Given the description of an element on the screen output the (x, y) to click on. 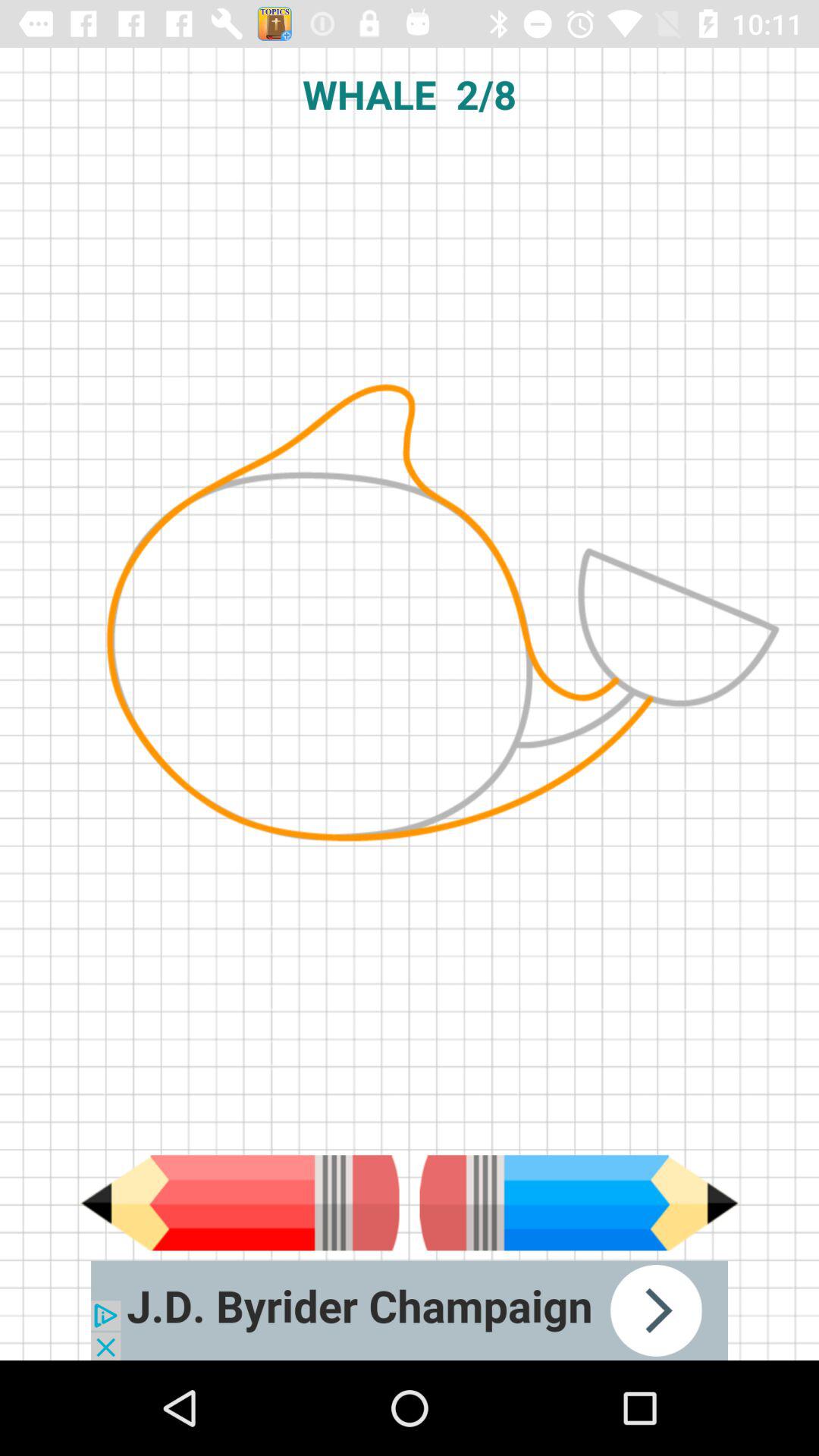
back (578, 1202)
